Given the description of an element on the screen output the (x, y) to click on. 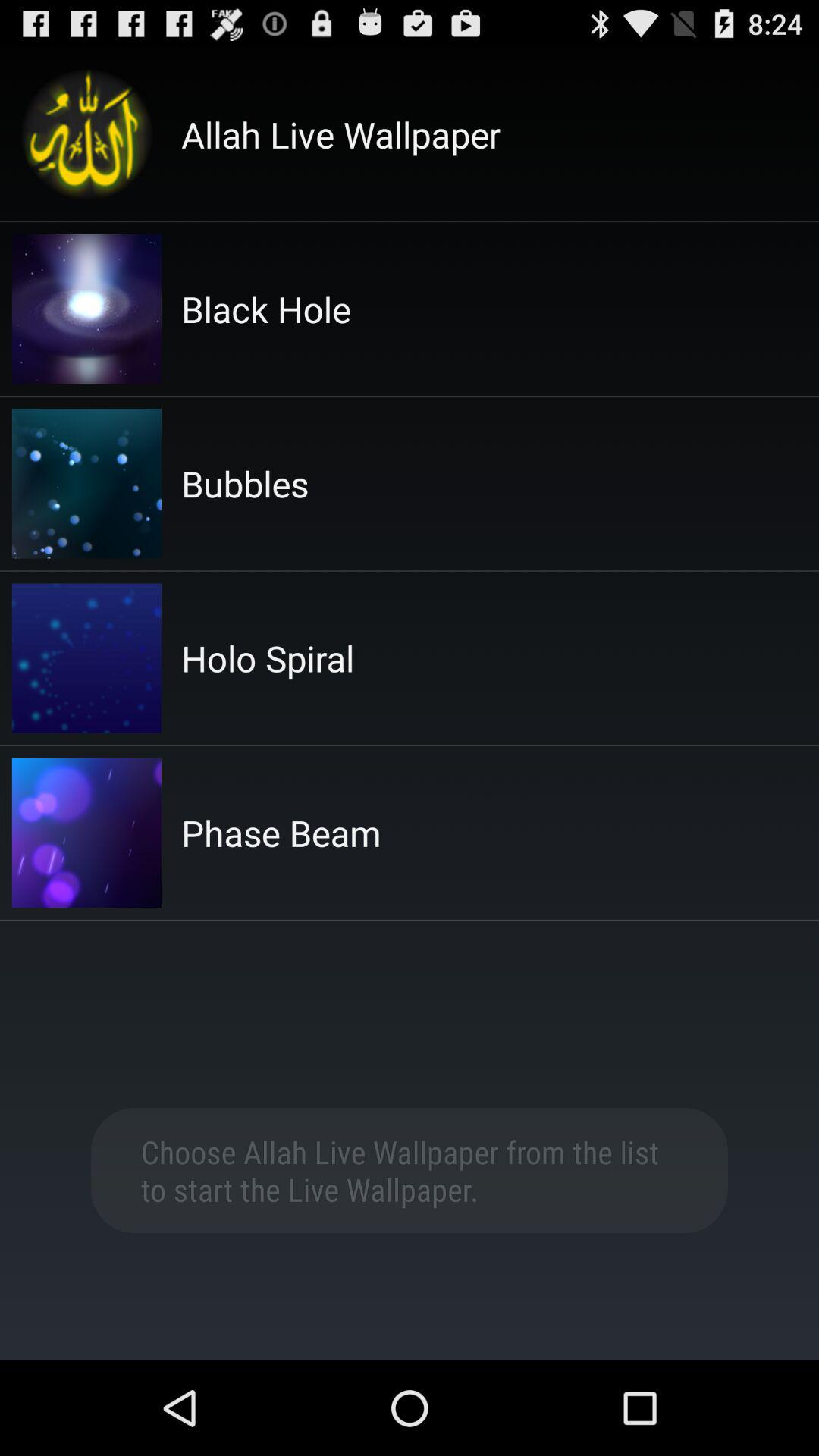
flip to the black hole app (265, 308)
